Given the description of an element on the screen output the (x, y) to click on. 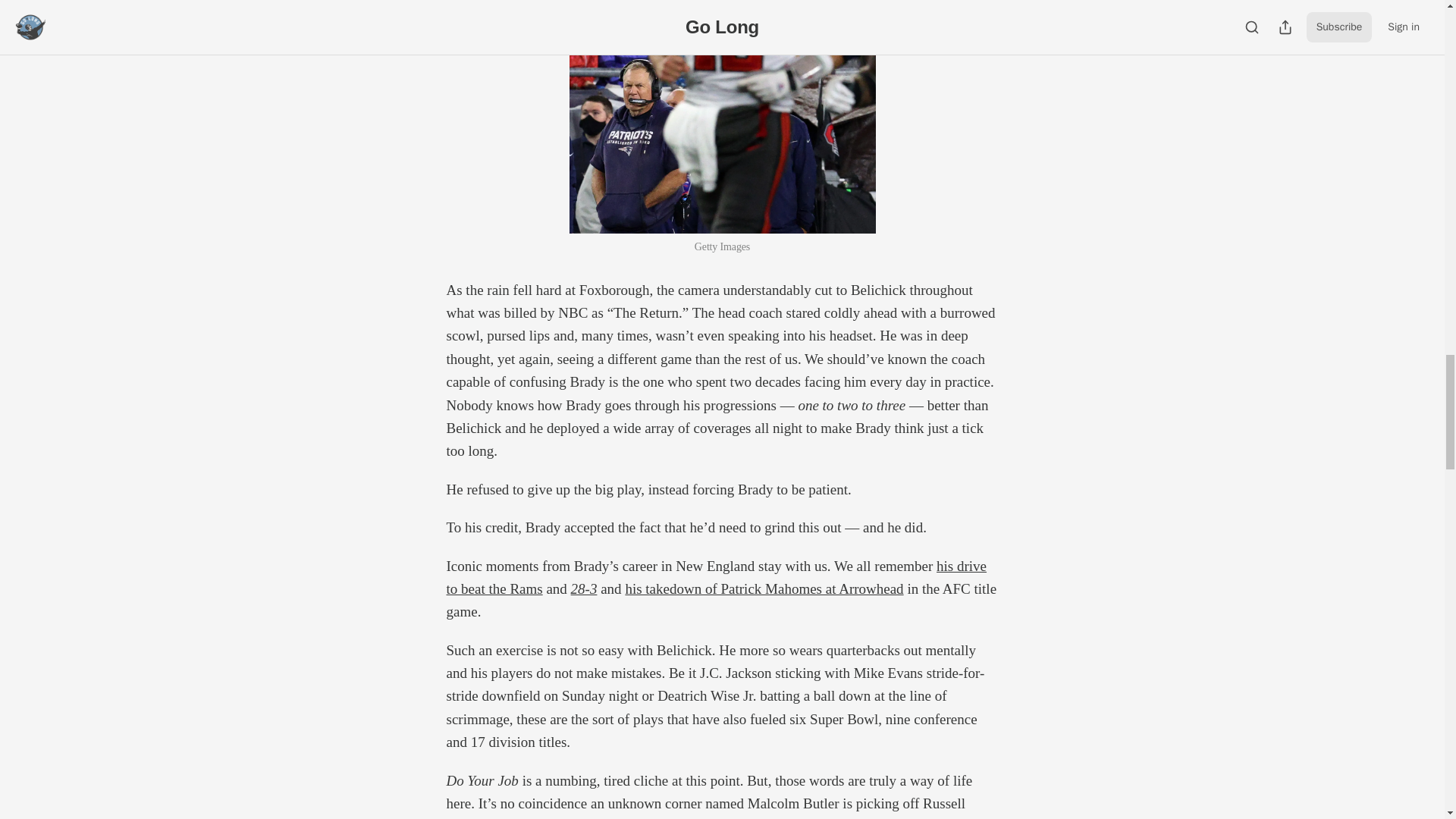
his drive to beat the Rams (716, 577)
his takedown of Patrick Mahomes at Arrowhead (763, 588)
28-3 (583, 588)
